Given the description of an element on the screen output the (x, y) to click on. 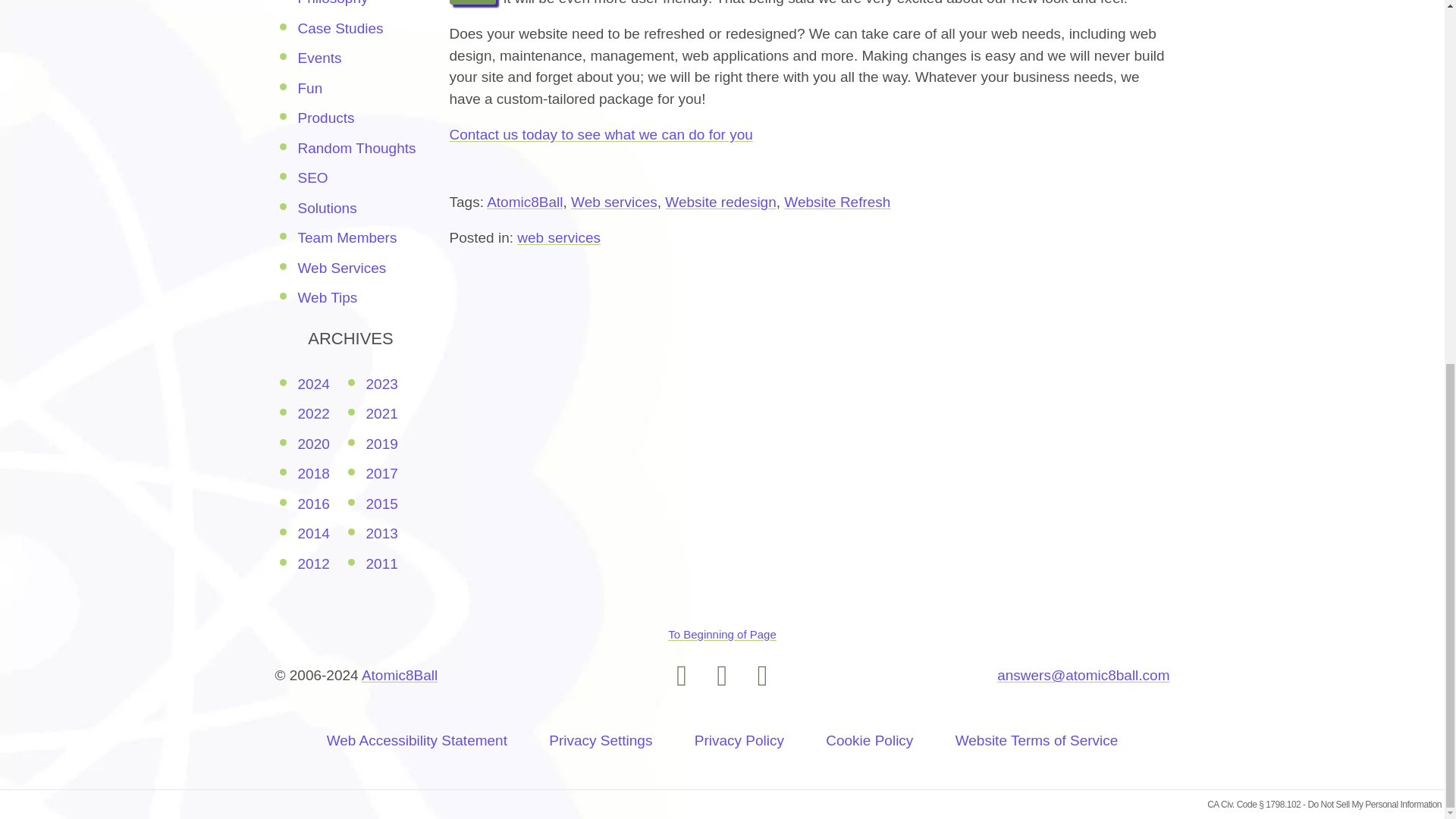
Web services (614, 201)
Website Refresh (836, 201)
2021 (381, 413)
Business Philosophy (332, 3)
2018 (313, 473)
2019 (381, 443)
Products (325, 117)
SEO (312, 177)
Case Studies (339, 28)
2020 (313, 443)
Facebook (721, 675)
web services (557, 237)
Contact us today to see what we can do for you (600, 134)
Website redesign (720, 201)
Web Services (341, 268)
